Given the description of an element on the screen output the (x, y) to click on. 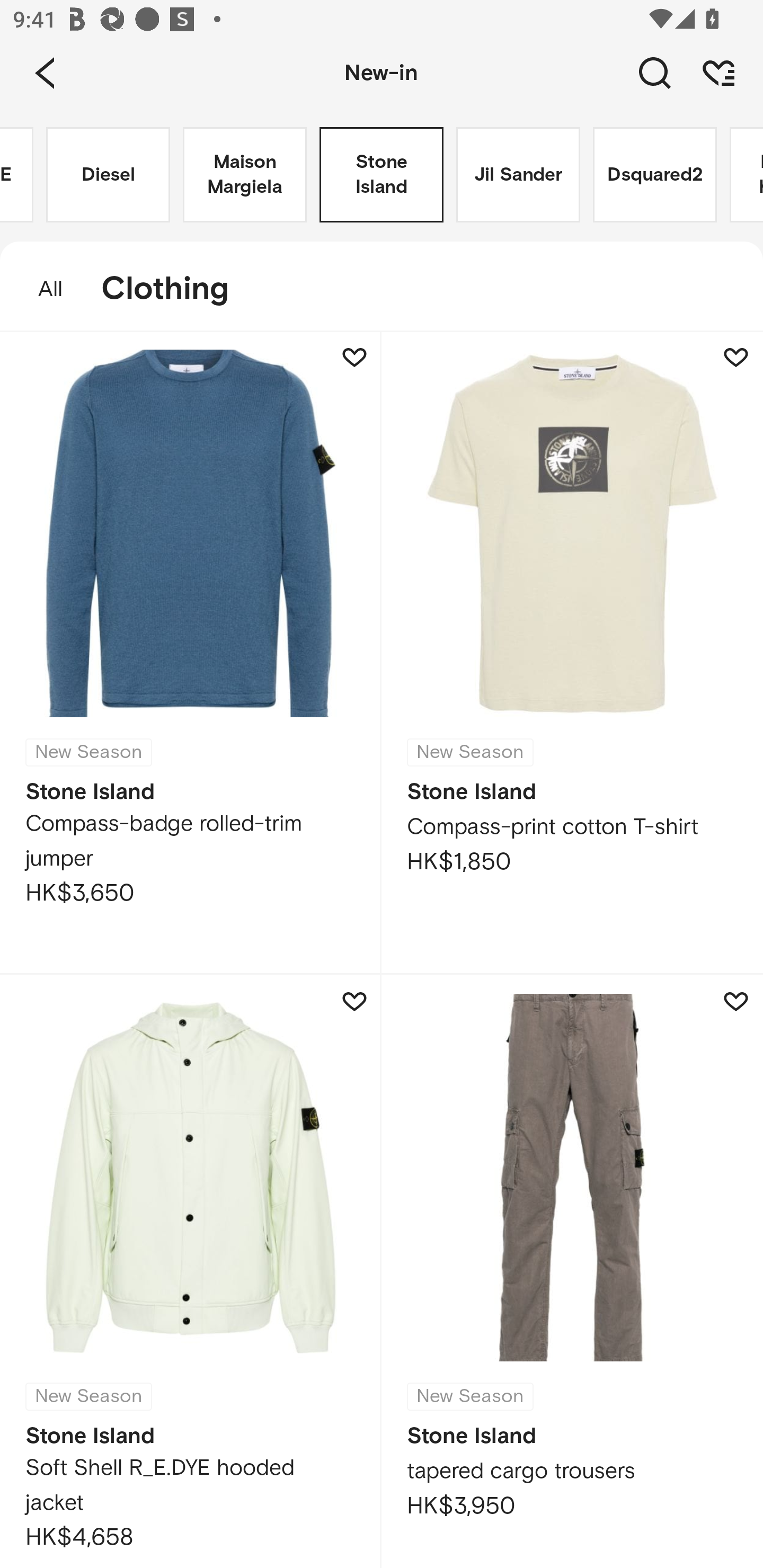
Diesel (107, 174)
Maison Margiela (244, 174)
Stone Island (381, 174)
Jil Sander (517, 174)
Dsquared2 (654, 174)
All (40, 288)
Clothing (174, 288)
